Given the description of an element on the screen output the (x, y) to click on. 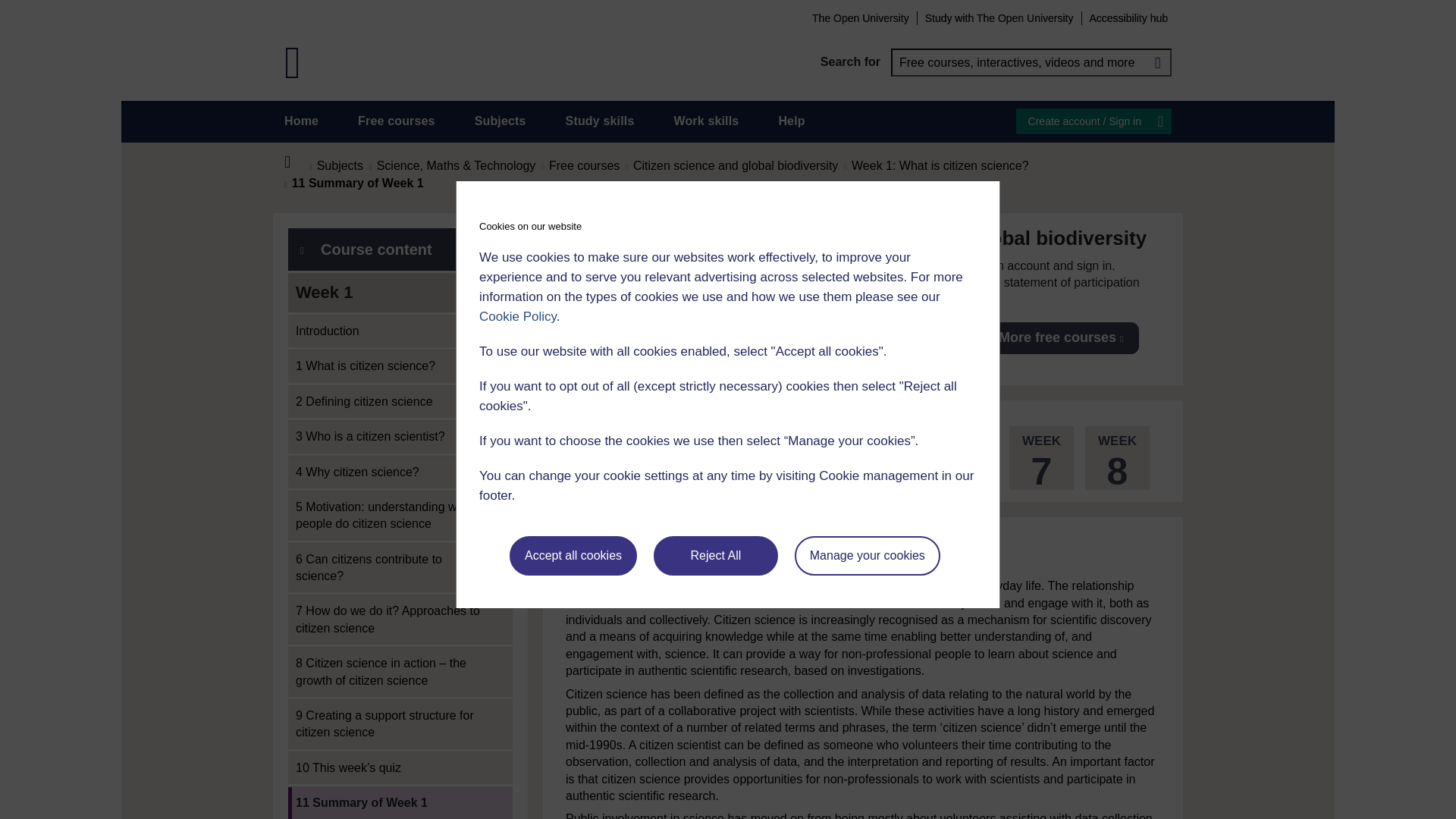
Help (791, 120)
Home (295, 162)
Subjects (499, 120)
Study skills (600, 120)
Reject All (715, 555)
Work skills (705, 120)
Accept all cookies (573, 555)
Free courses (396, 120)
Home (300, 120)
Study with The Open University (999, 17)
Accessibility hub (1129, 17)
Cookie Policy (517, 316)
Manage your cookies (867, 555)
Search (1157, 62)
The Open University (860, 17)
